Given the description of an element on the screen output the (x, y) to click on. 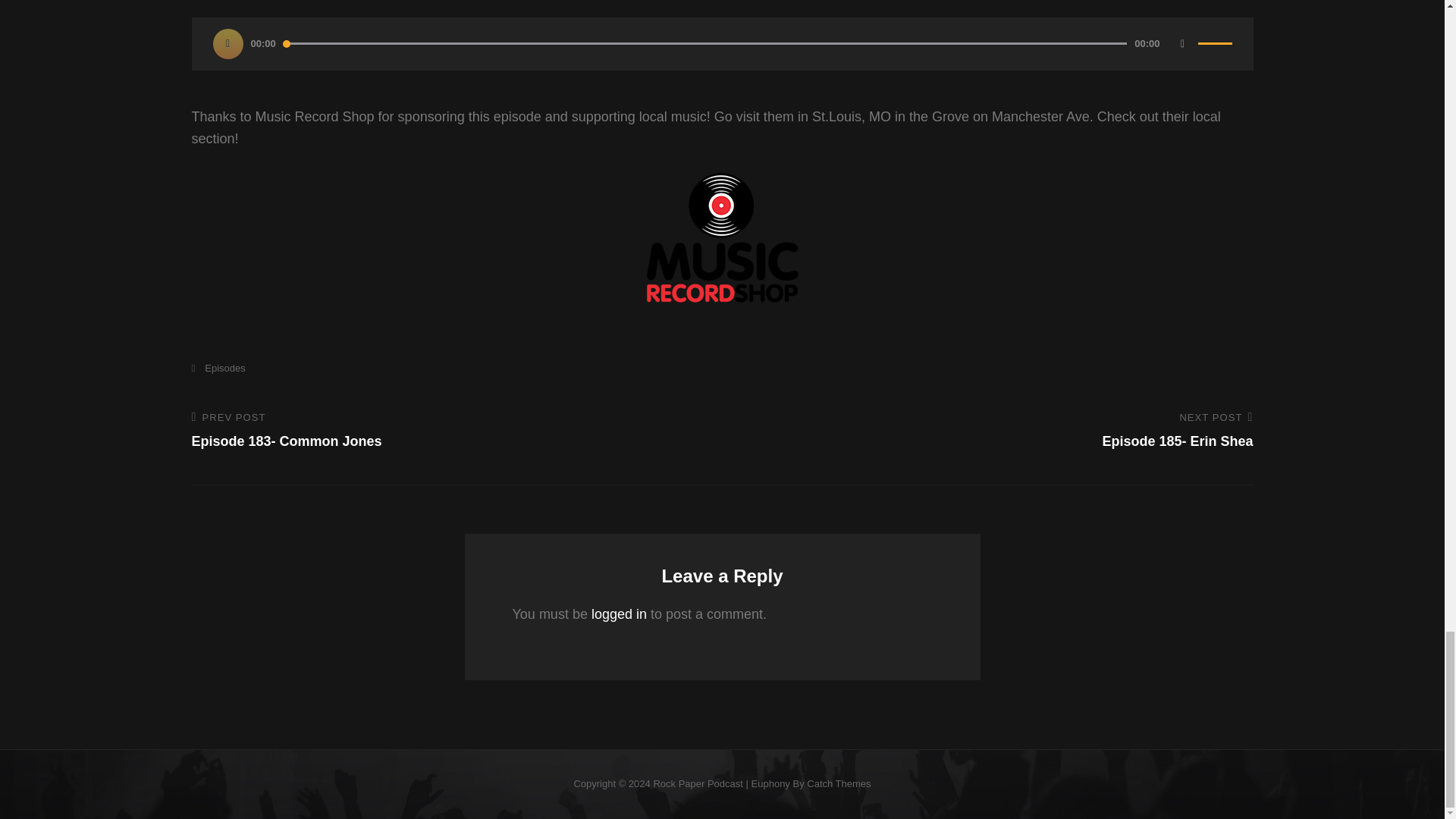
Episodes (217, 367)
logged in (618, 613)
Play (227, 43)
Mute (1182, 43)
Catch Themes (997, 431)
Rock Paper Podcast (838, 783)
